Given the description of an element on the screen output the (x, y) to click on. 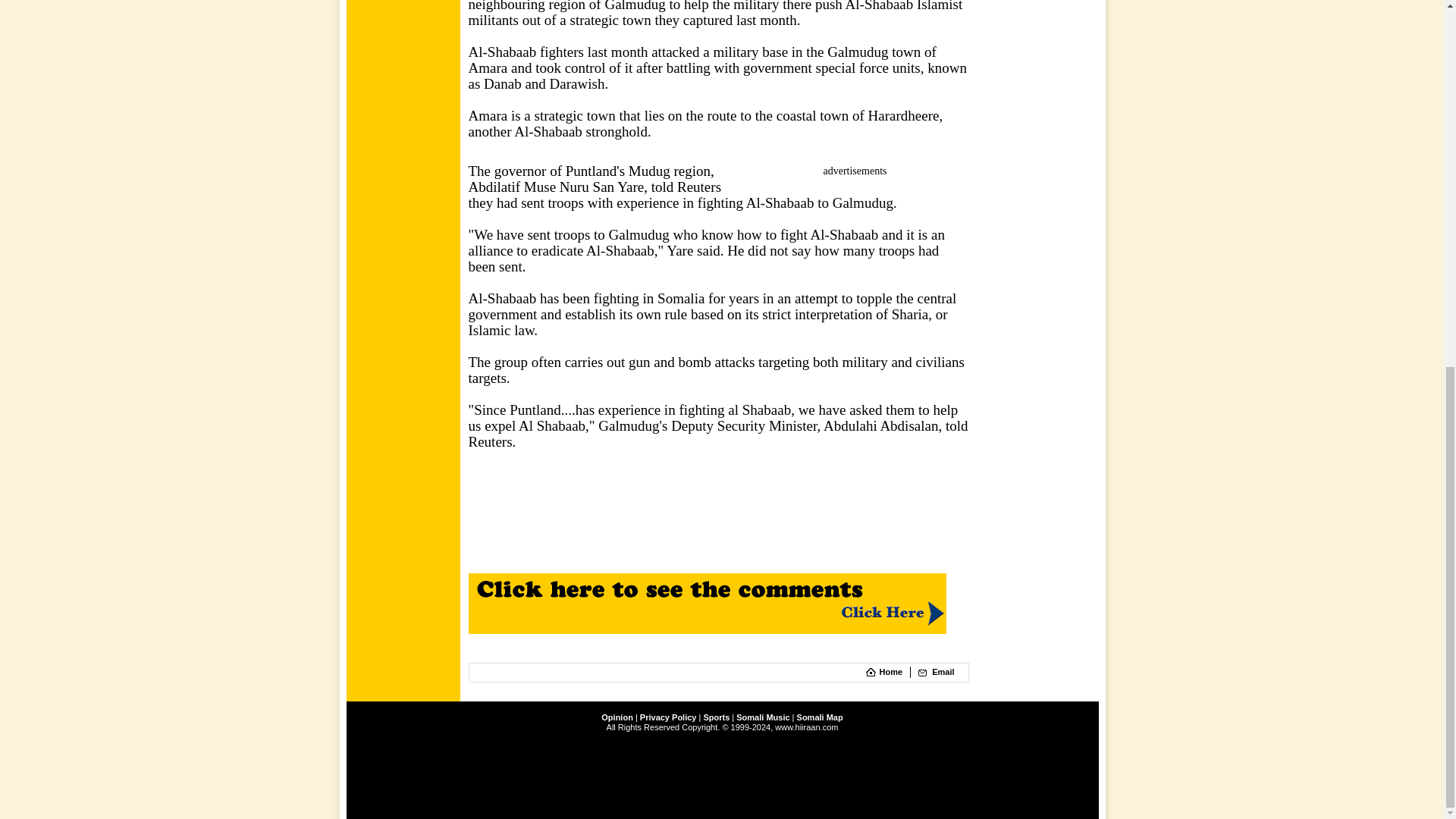
Somali Map (819, 716)
Privacy Policy (668, 716)
Email (942, 671)
Opinion (617, 716)
Home (890, 671)
Sports (716, 716)
Somali Music (762, 716)
